Given the description of an element on the screen output the (x, y) to click on. 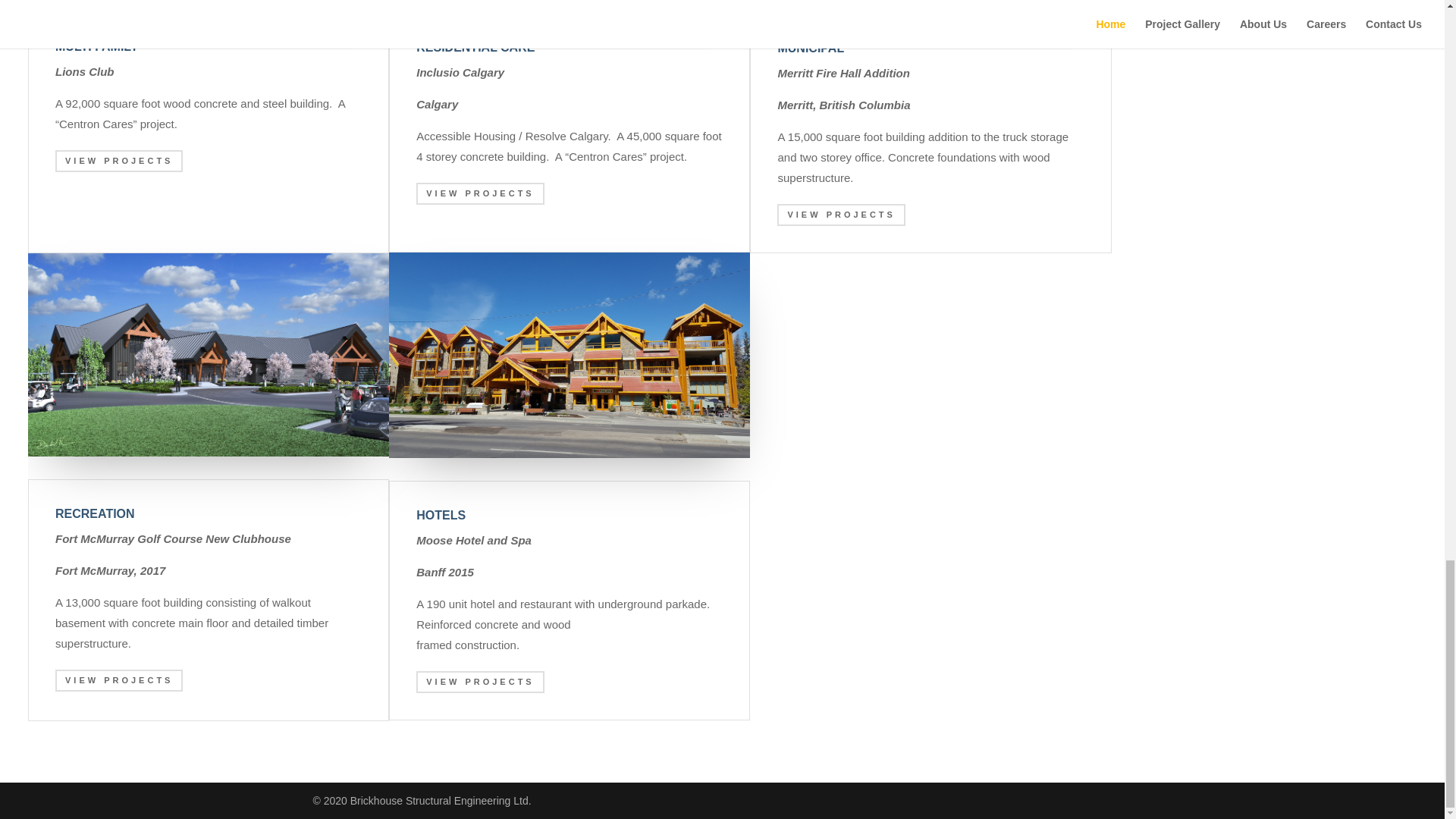
VIEW PROJECTS (119, 160)
VIEW PROJECTS (479, 681)
VIEW PROJECTS (840, 214)
VIEW PROJECTS (479, 193)
VIEW PROJECTS (119, 680)
